Given the description of an element on the screen output the (x, y) to click on. 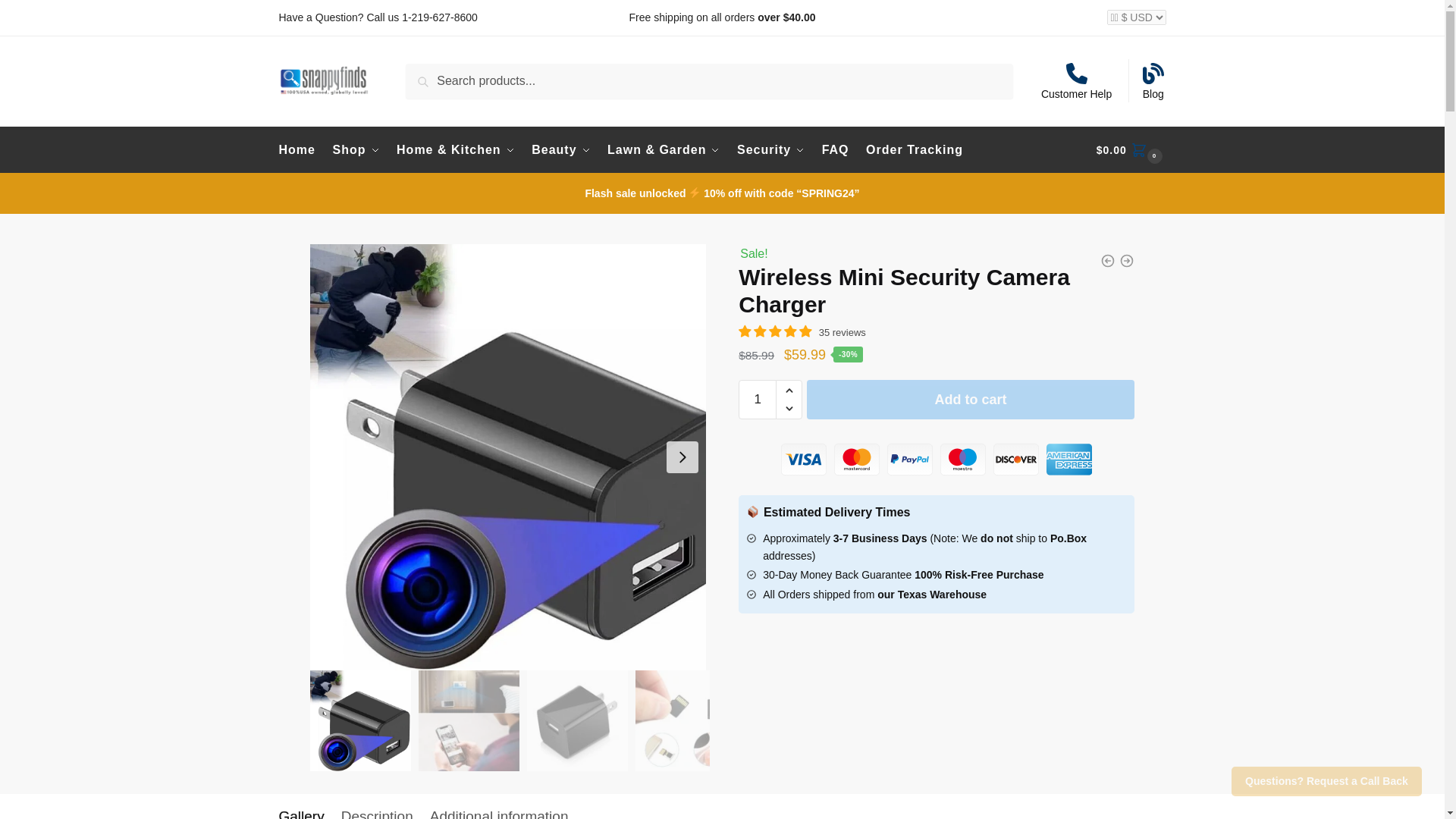
Blog (1152, 80)
Customer Help (1076, 80)
Search (429, 74)
Shop (356, 149)
Home (300, 149)
1 (757, 399)
